Given the description of an element on the screen output the (x, y) to click on. 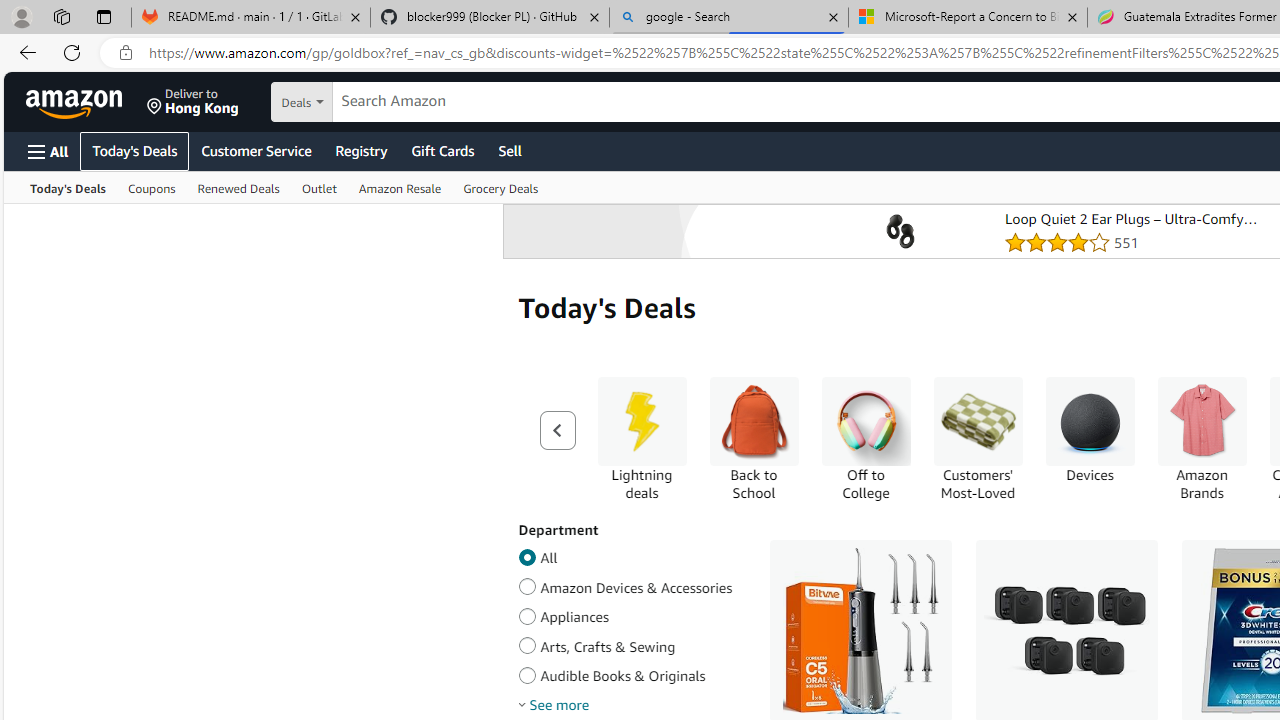
Amazon Brands (1201, 421)
Devices (1089, 421)
Coupons (151, 187)
Deliver to Hong Kong (193, 101)
Amazon (76, 101)
Customers' Most-Loved (977, 439)
Arts, Crafts & Sewing (527, 643)
Product image (899, 231)
Customers' Most-Loved (977, 421)
All (527, 554)
